Given the description of an element on the screen output the (x, y) to click on. 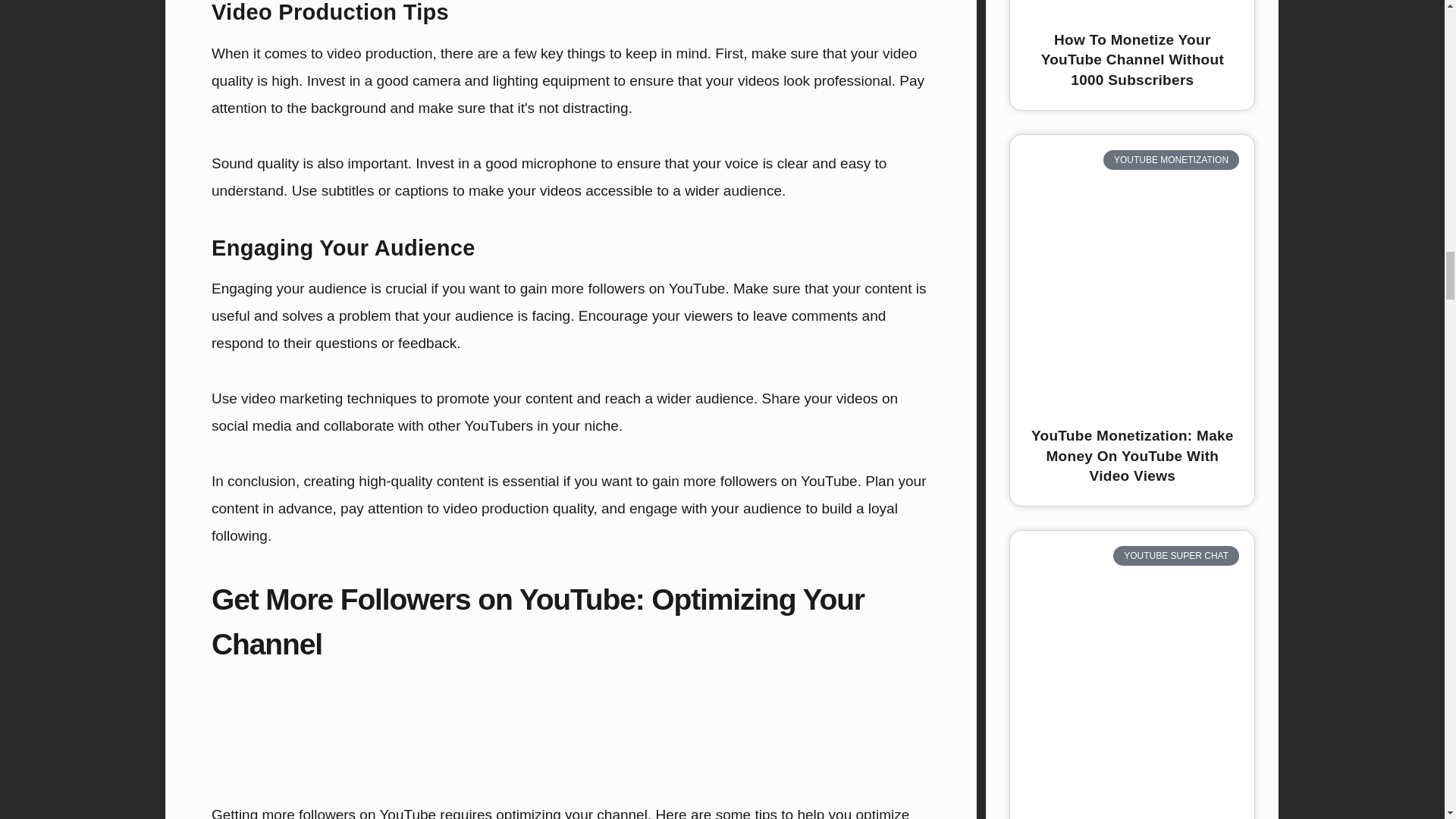
creating high-quality content (392, 480)
camera (436, 80)
optimizing your channel (571, 812)
camera (436, 80)
gain more followers on YouTube (622, 288)
video marketing techniques (328, 398)
